Given the description of an element on the screen output the (x, y) to click on. 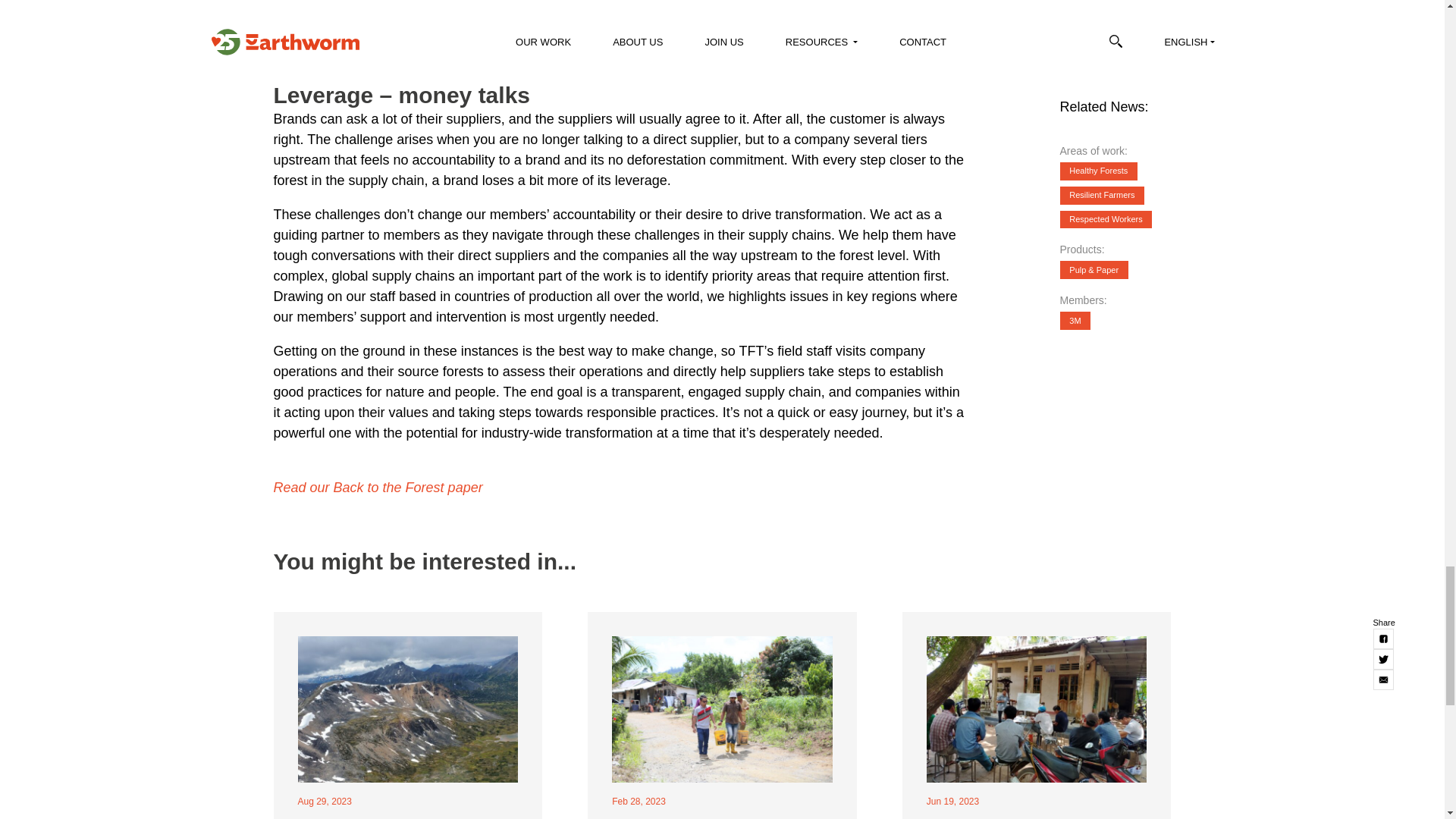
View The Forest Trust's profile on Twitter (382, 57)
Twitter Ads info and privacy (575, 57)
